Given the description of an element on the screen output the (x, y) to click on. 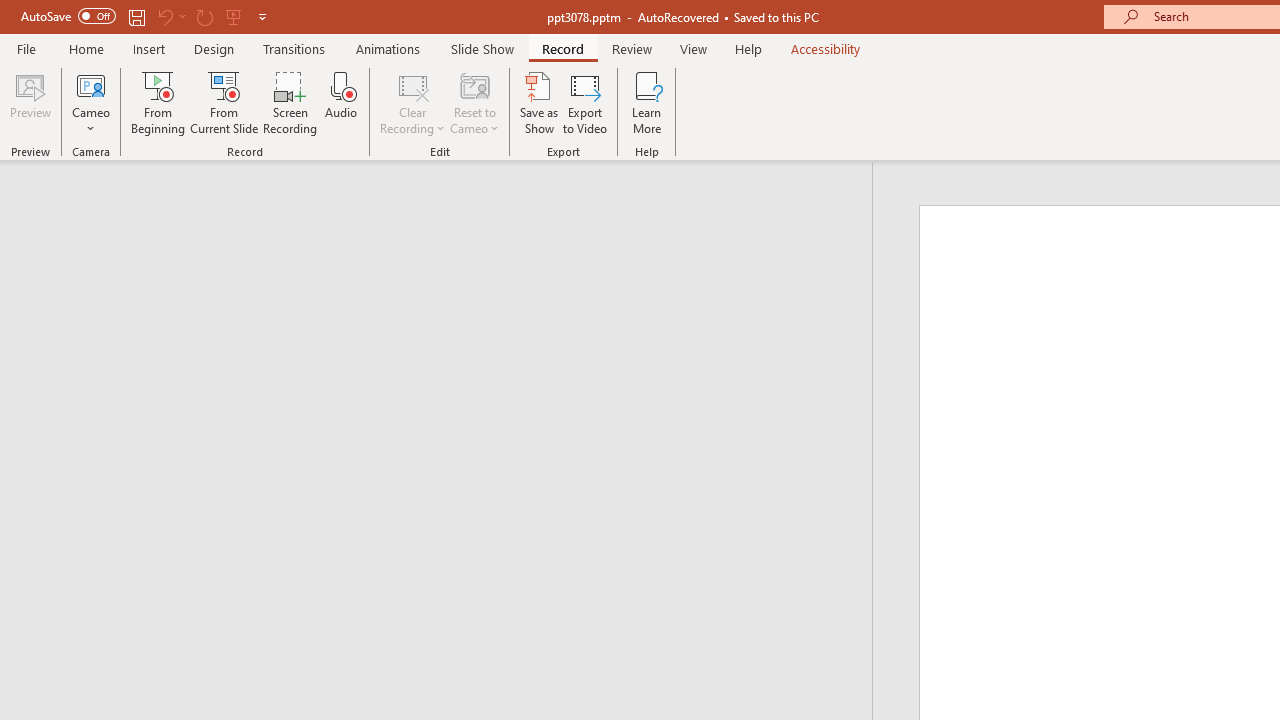
Audio (341, 102)
Screen Recording (290, 102)
Save as Show (539, 102)
